Given the description of an element on the screen output the (x, y) to click on. 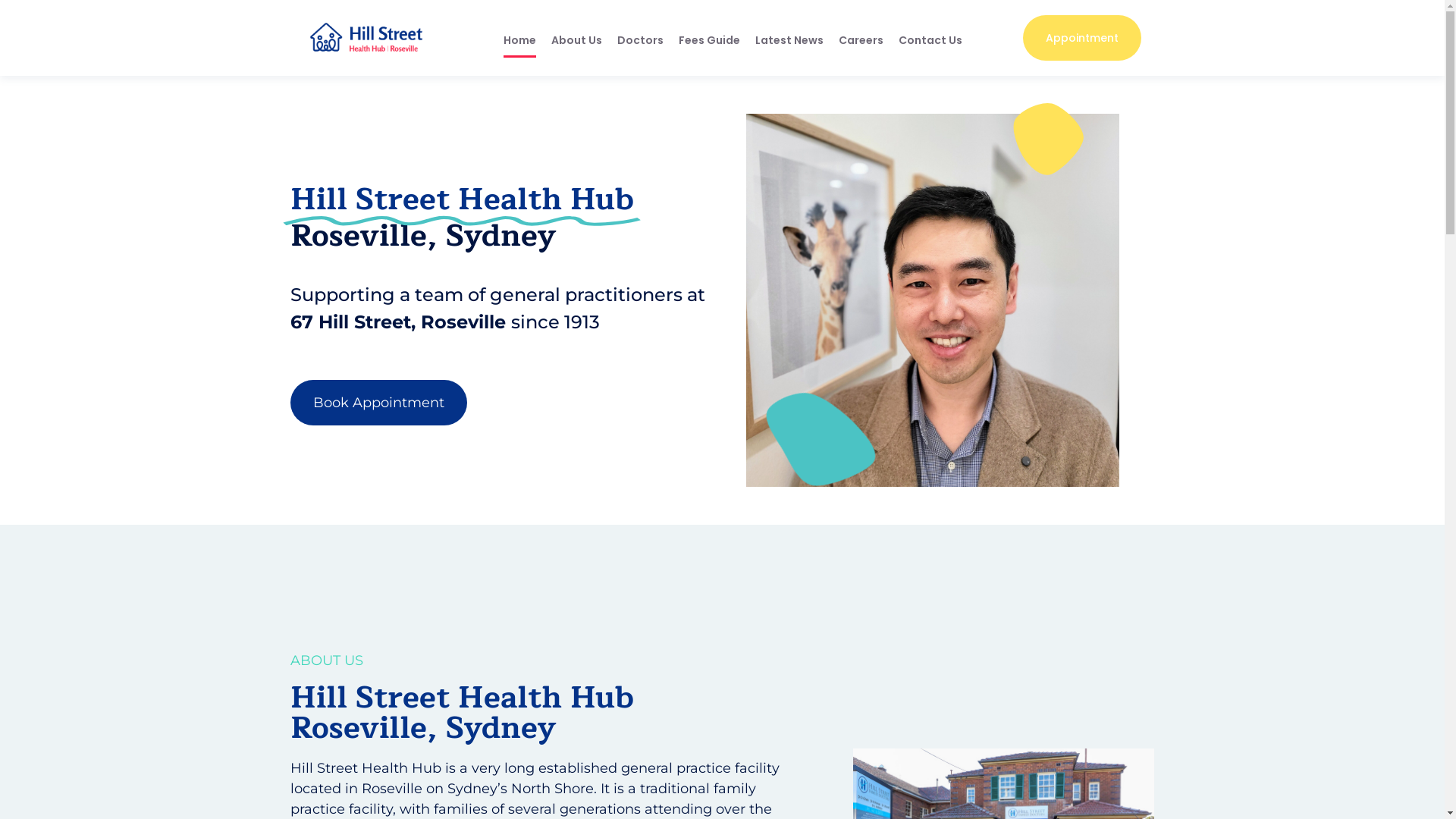
Book Appointment Element type: text (377, 402)
About Us Element type: text (576, 39)
Latest News Element type: text (789, 39)
Fees Guide Element type: text (709, 39)
Doctors Element type: text (640, 39)
Home Element type: text (519, 39)
Contact Us Element type: text (930, 39)
Appointment Element type: text (1081, 37)
Careers Element type: text (860, 39)
